Given the description of an element on the screen output the (x, y) to click on. 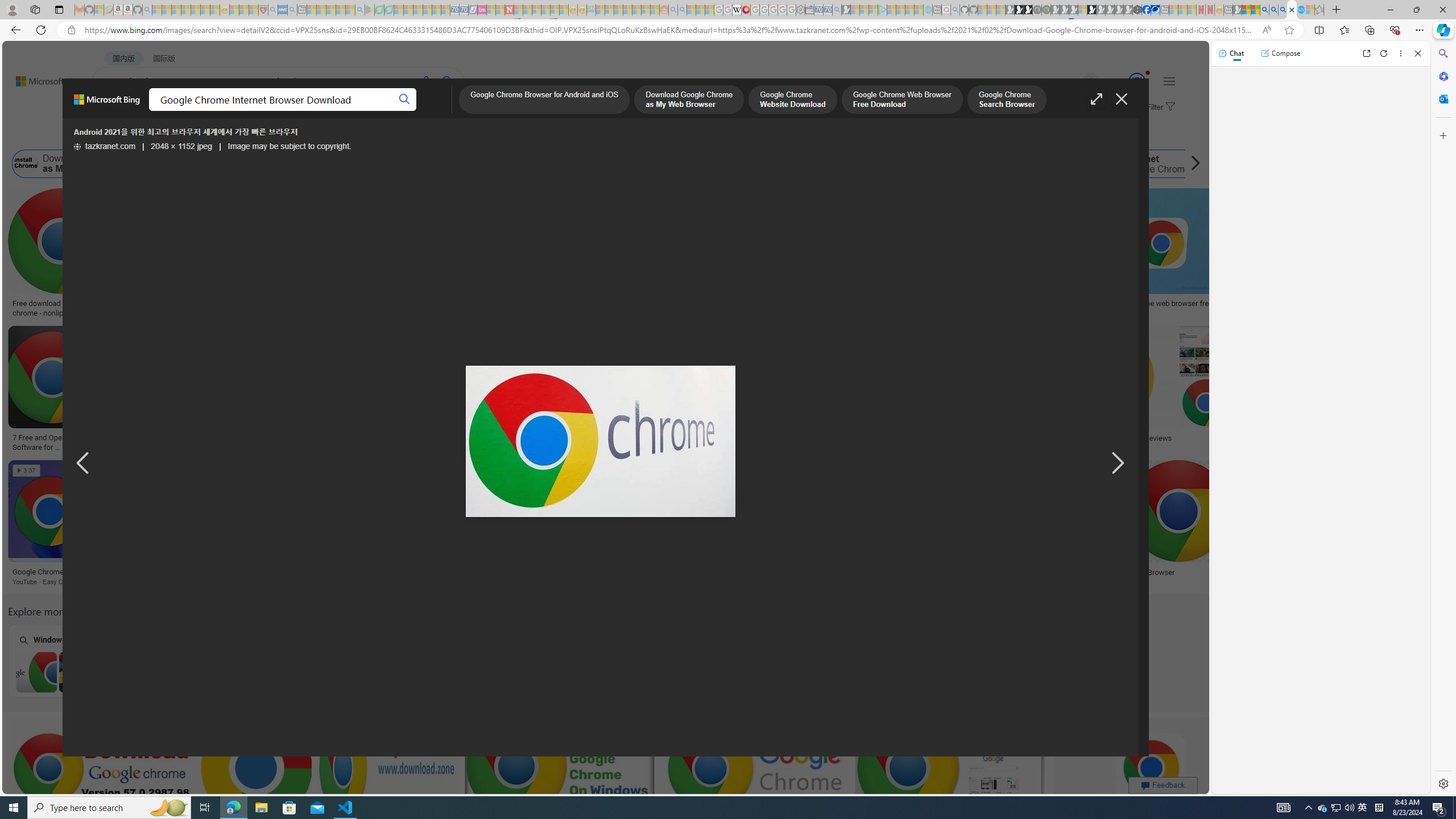
Download video online chrome - hresadishSave (190, 254)
Google chrome web browser free download for Mac and Window (1192, 307)
AutomationID: rh_meter (1136, 80)
Chrome Browser Download Windows 10 64-Bit (370, 671)
Chrome Browser Download Windows 10 (515, 671)
